Given the description of an element on the screen output the (x, y) to click on. 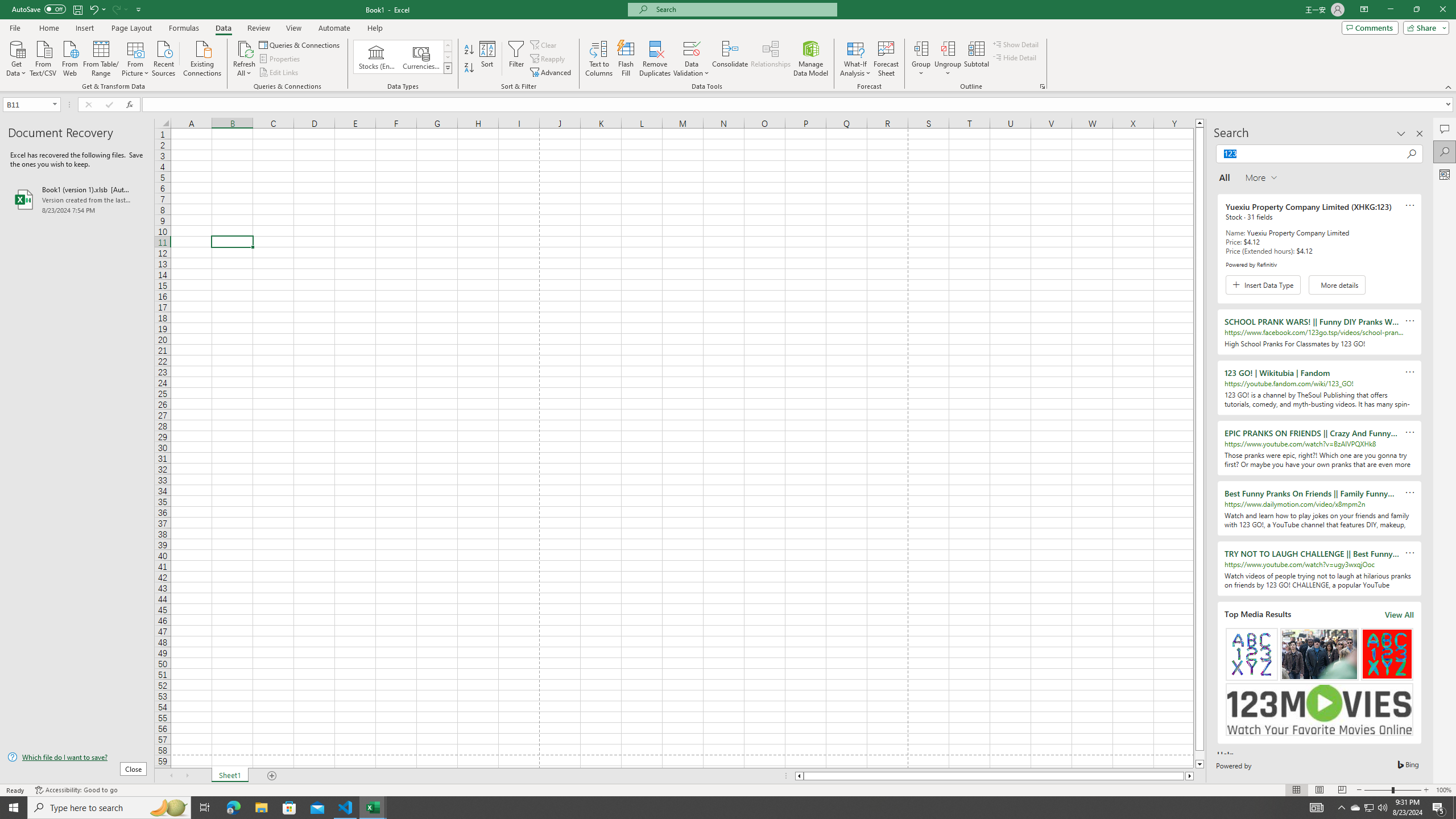
From Web (69, 57)
Search (1444, 151)
From Text/CSV (43, 57)
Existing Connections (202, 57)
Filter (515, 58)
